Given the description of an element on the screen output the (x, y) to click on. 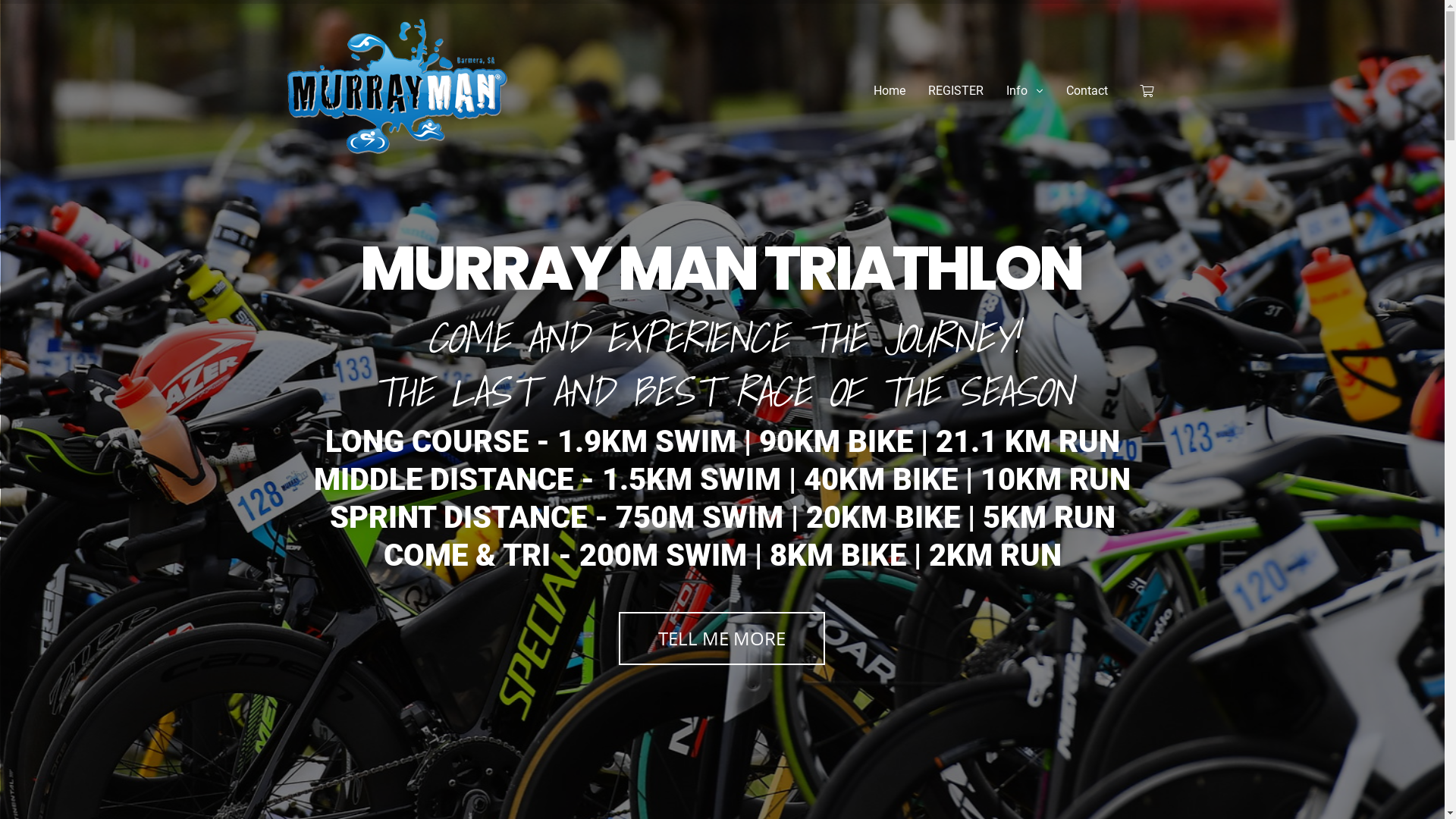
REGISTER Element type: text (955, 90)
TELL ME MORE Element type: text (721, 638)
Contact Element type: text (1086, 90)
Home Element type: text (889, 90)
Info Element type: text (1024, 90)
